Given the description of an element on the screen output the (x, y) to click on. 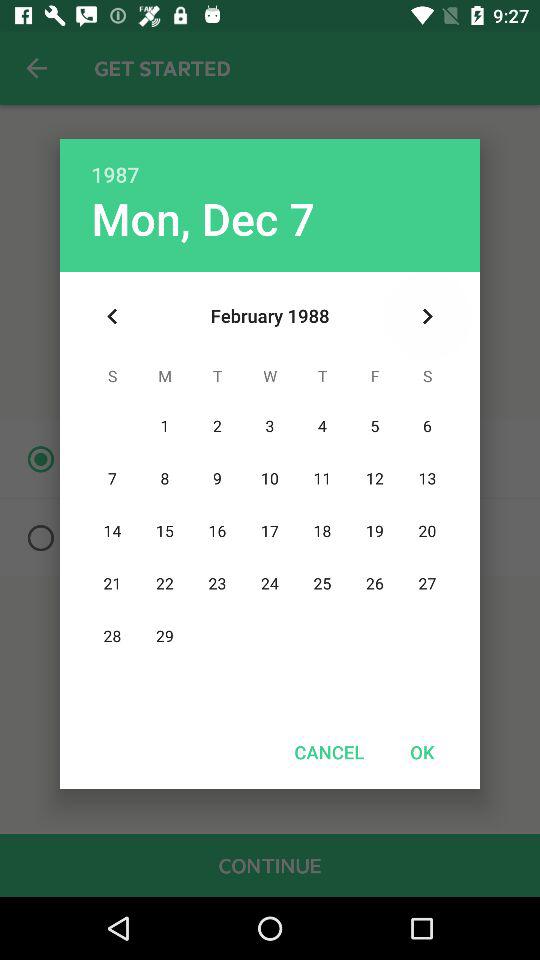
tap item next to cancel (422, 751)
